Given the description of an element on the screen output the (x, y) to click on. 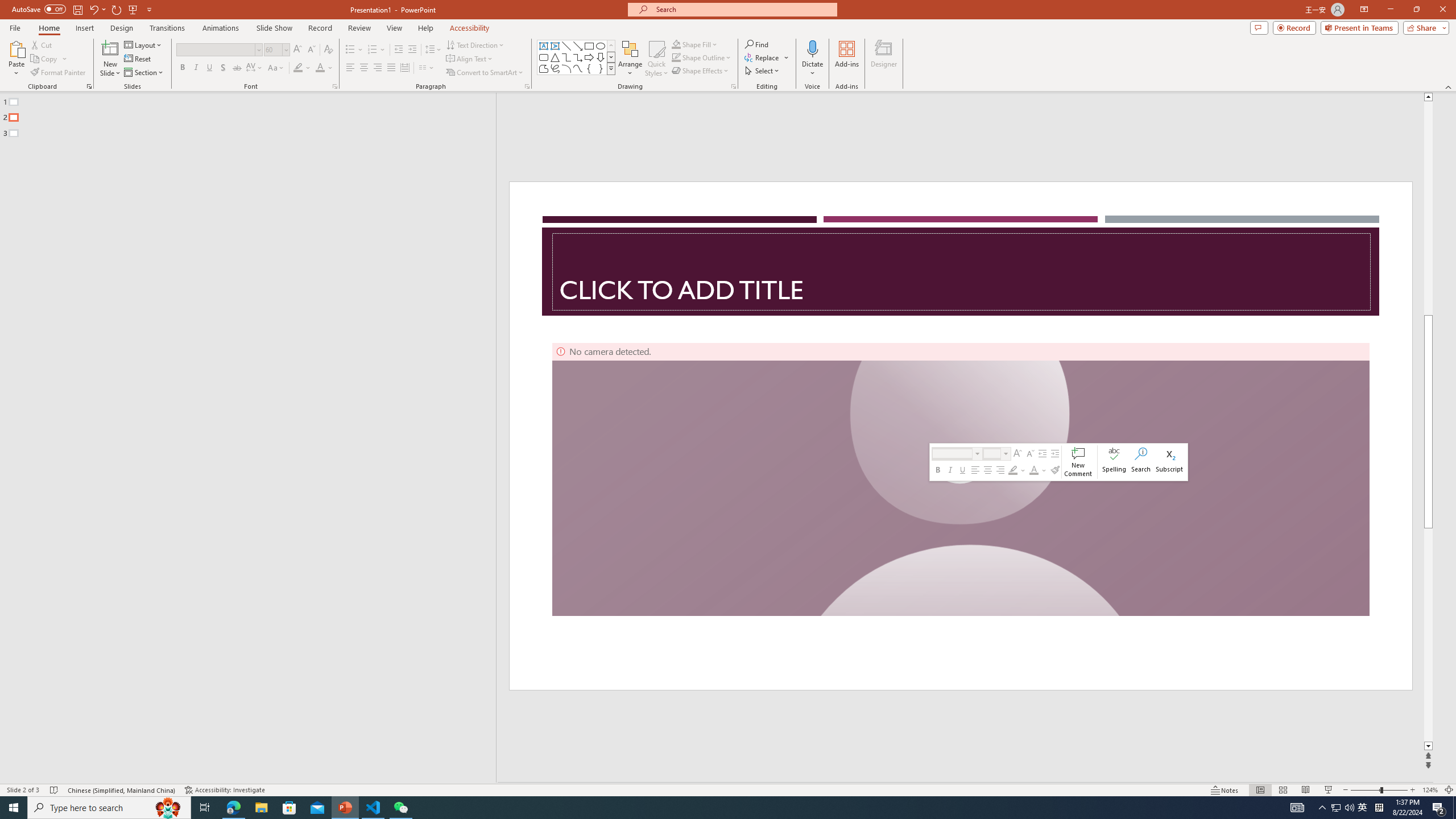
Italic (195, 67)
Class: NetUIComboboxAnchor (996, 453)
Font Color Red (320, 67)
Subscript (1169, 462)
Text Box (543, 45)
Shape Fill Orange, Accent 2 (675, 44)
Change Case (276, 67)
Line Spacing (433, 49)
Undo (92, 9)
Cut (42, 44)
Shadow (223, 67)
Section (144, 72)
Text Highlight Color (1012, 470)
Zoom to Fit  (1449, 790)
Save (77, 9)
